Given the description of an element on the screen output the (x, y) to click on. 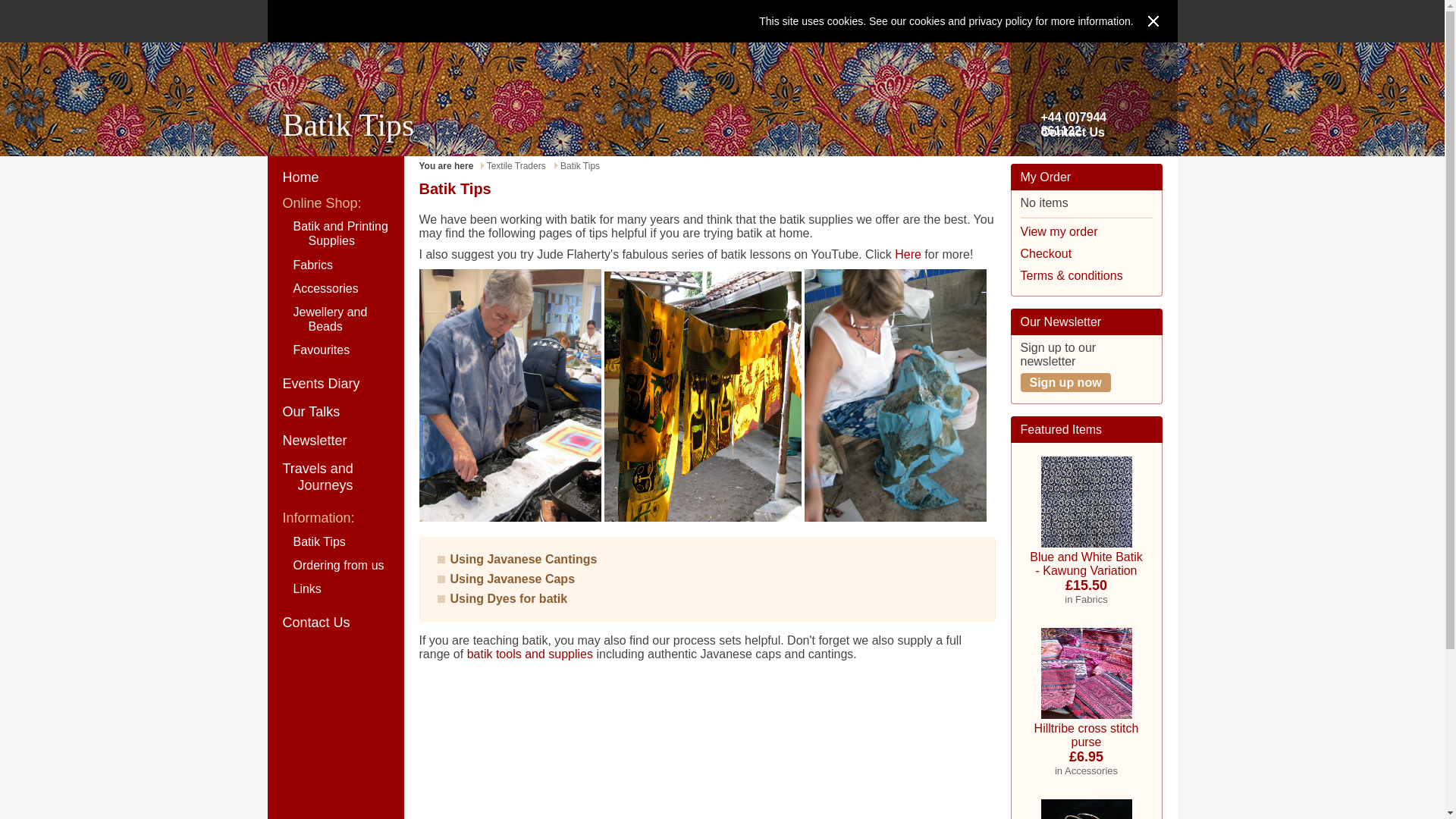
Batik Tips (334, 541)
Contact Us (334, 623)
Hilltribe cross stitch purse (1086, 673)
Checkout (1045, 253)
Sign up now (1065, 382)
Favourites (334, 349)
Travels and Journeys (334, 477)
Blue and White Batik - Kawung Variation (1086, 501)
Contact Us (1072, 132)
Using Javanese Caps (512, 578)
Accessories (334, 288)
Ordering from us (334, 565)
Oval Tree of Life silver earrings (1086, 809)
Home (334, 177)
Oval Tree of Life silver earrings (1086, 805)
